Given the description of an element on the screen output the (x, y) to click on. 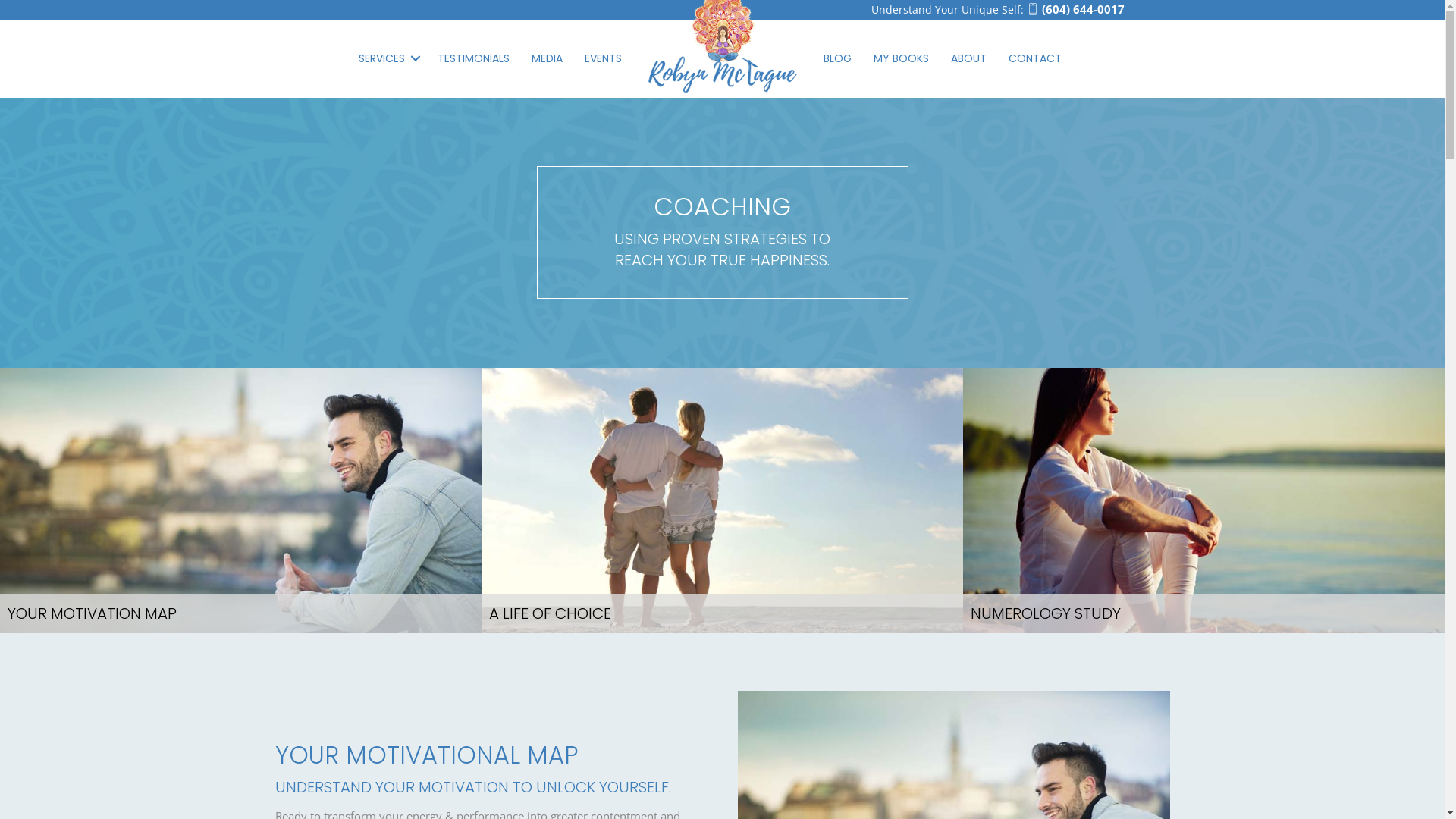
ABOUT Element type: text (968, 58)
BLOG Element type: text (837, 58)
TESTIMONIALS Element type: text (473, 58)
YOUR MOTIVATION MAP Element type: text (240, 500)
EVENTS Element type: text (603, 58)
CONTACT Element type: text (1034, 58)
A LIFE OF CHOICE Element type: text (722, 500)
SERVICES Element type: text (387, 58)
(604) 644-0017 Element type: text (1075, 9)
NUMEROLOGY STUDY Element type: text (1203, 500)
MY BOOKS Element type: text (900, 58)
MEDIA Element type: text (546, 58)
